Given the description of an element on the screen output the (x, y) to click on. 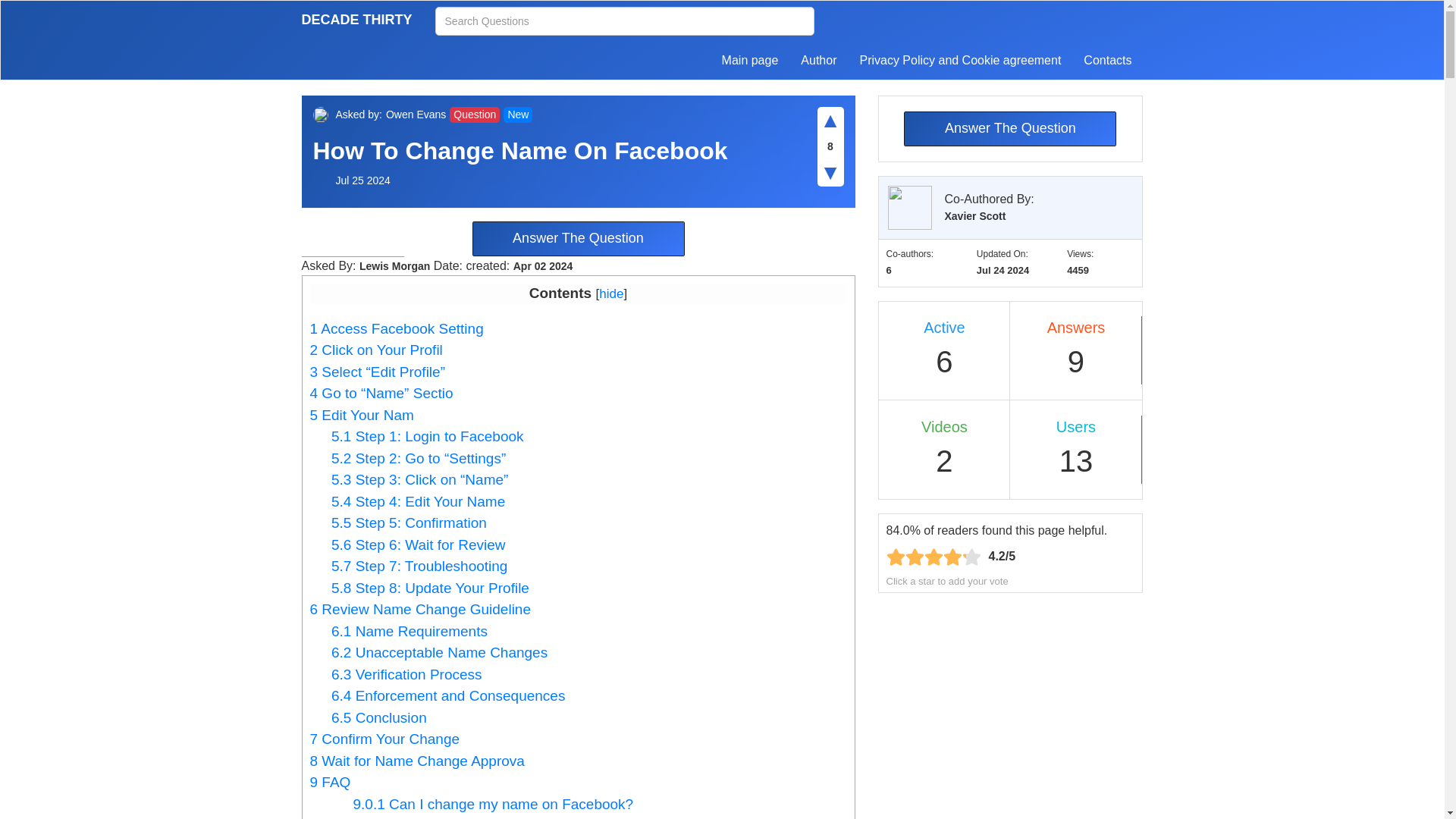
hide (610, 293)
6.3 Verification Process (406, 674)
6.5 Conclusion (378, 717)
Answer The Question (577, 238)
5.6 Step 6: Wait for Review (418, 544)
Contacts (1106, 60)
DECADE THIRTY (356, 21)
5.8 Step 8: Update Your Profile (430, 587)
2 Click on Your Profil (375, 349)
7 Confirm Your Change (384, 738)
6 Review Name Change Guideline (419, 609)
1 Access Facebook Setting (395, 328)
8 Wait for Name Change Approva (416, 760)
6.2 Unacceptable Name Changes (439, 652)
Privacy Policy and Cookie agreement (959, 60)
